Given the description of an element on the screen output the (x, y) to click on. 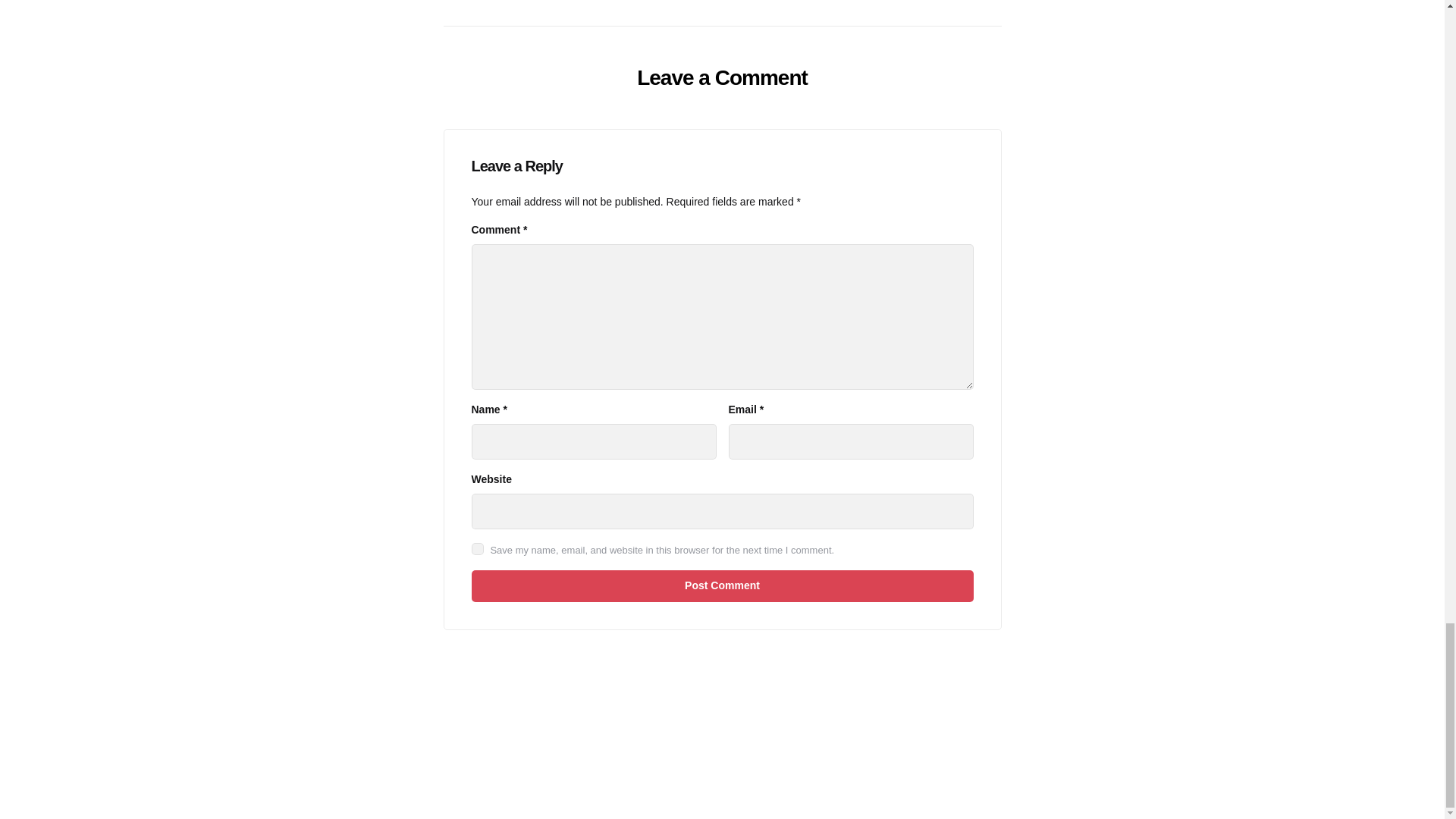
Post Comment (722, 585)
yes (477, 548)
